Given the description of an element on the screen output the (x, y) to click on. 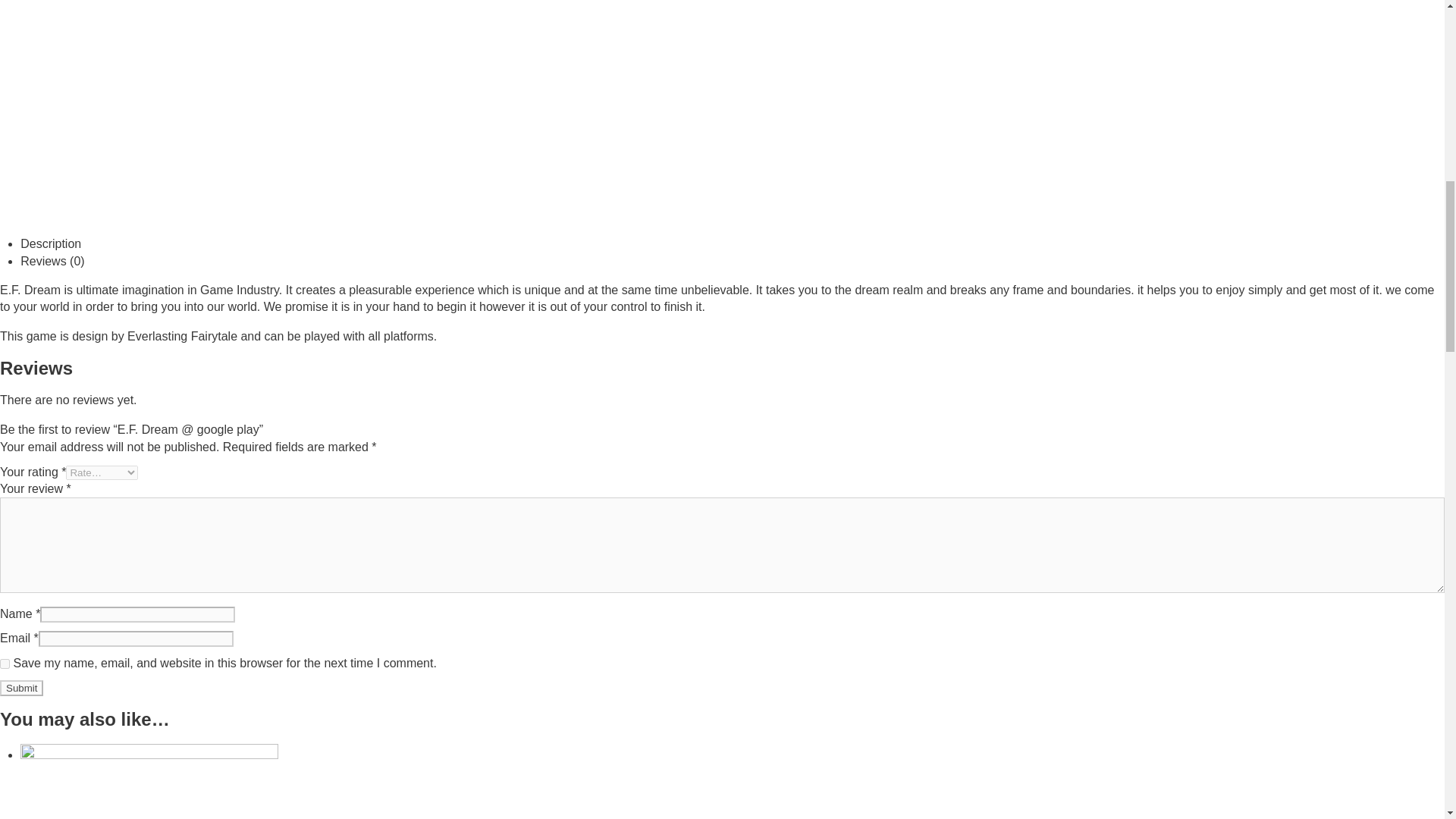
Submit (21, 688)
Submit (21, 688)
Description (50, 243)
yes (5, 664)
